Given the description of an element on the screen output the (x, y) to click on. 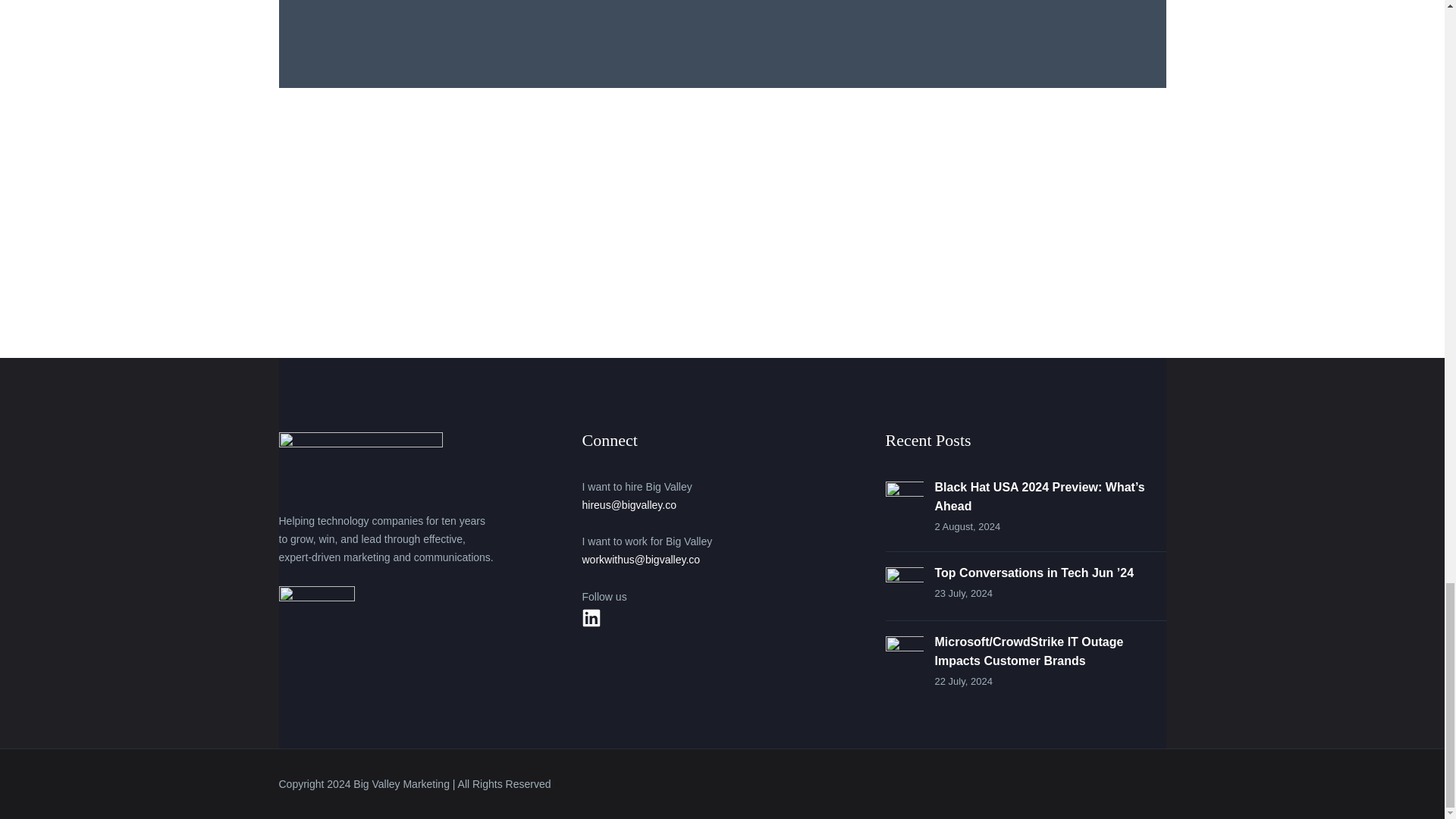
LinkedIn (590, 617)
